Given the description of an element on the screen output the (x, y) to click on. 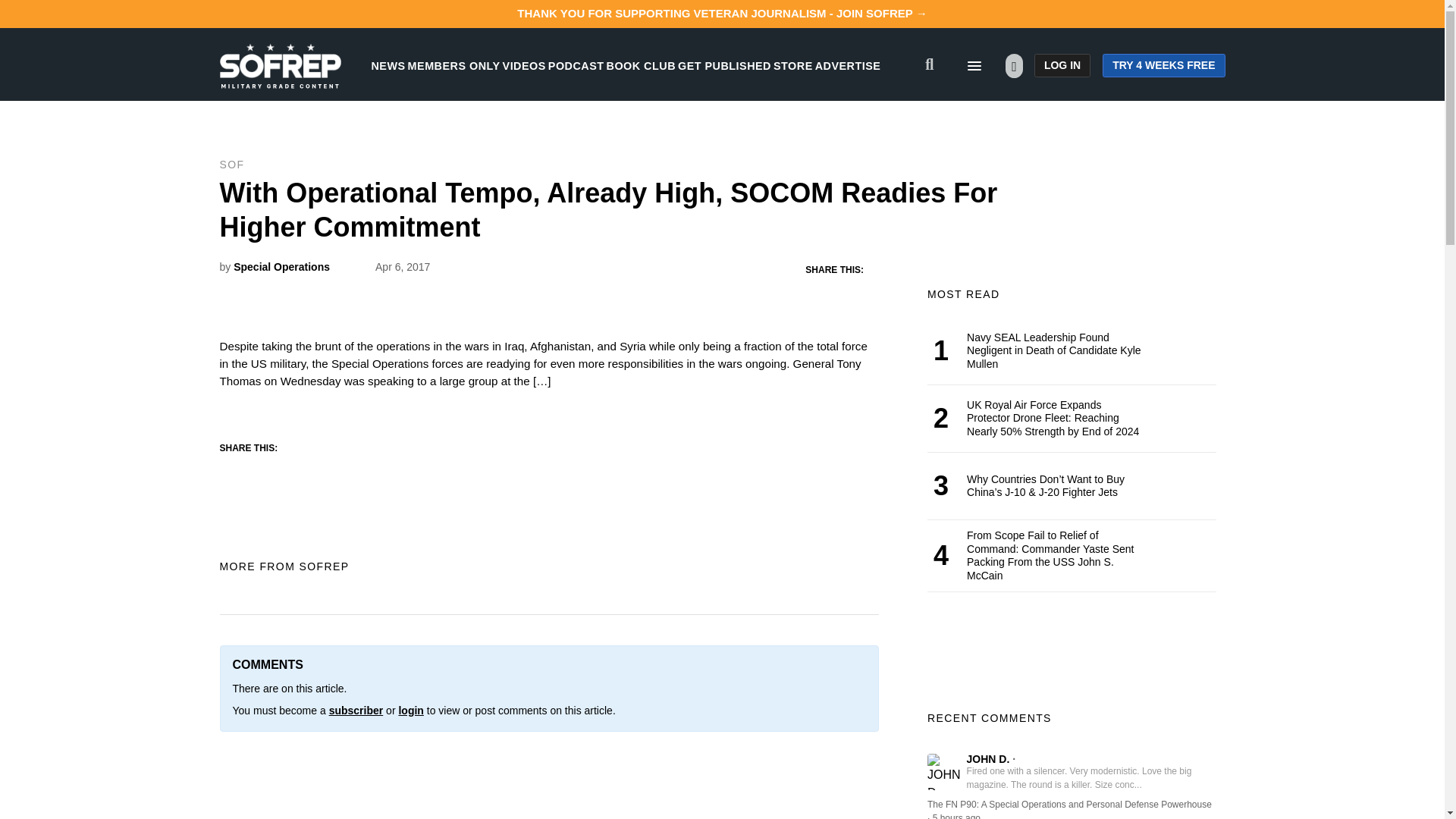
VIDEOS (524, 65)
BOOK CLUB (641, 65)
TRY 4 WEEKS FREE (1163, 65)
PODCAST (576, 65)
STORE (792, 65)
MEMBERS ONLY (453, 65)
LOG IN (1061, 65)
GET PUBLISHED (724, 65)
ADVERTISE (847, 65)
NEWS (388, 65)
